Given the description of an element on the screen output the (x, y) to click on. 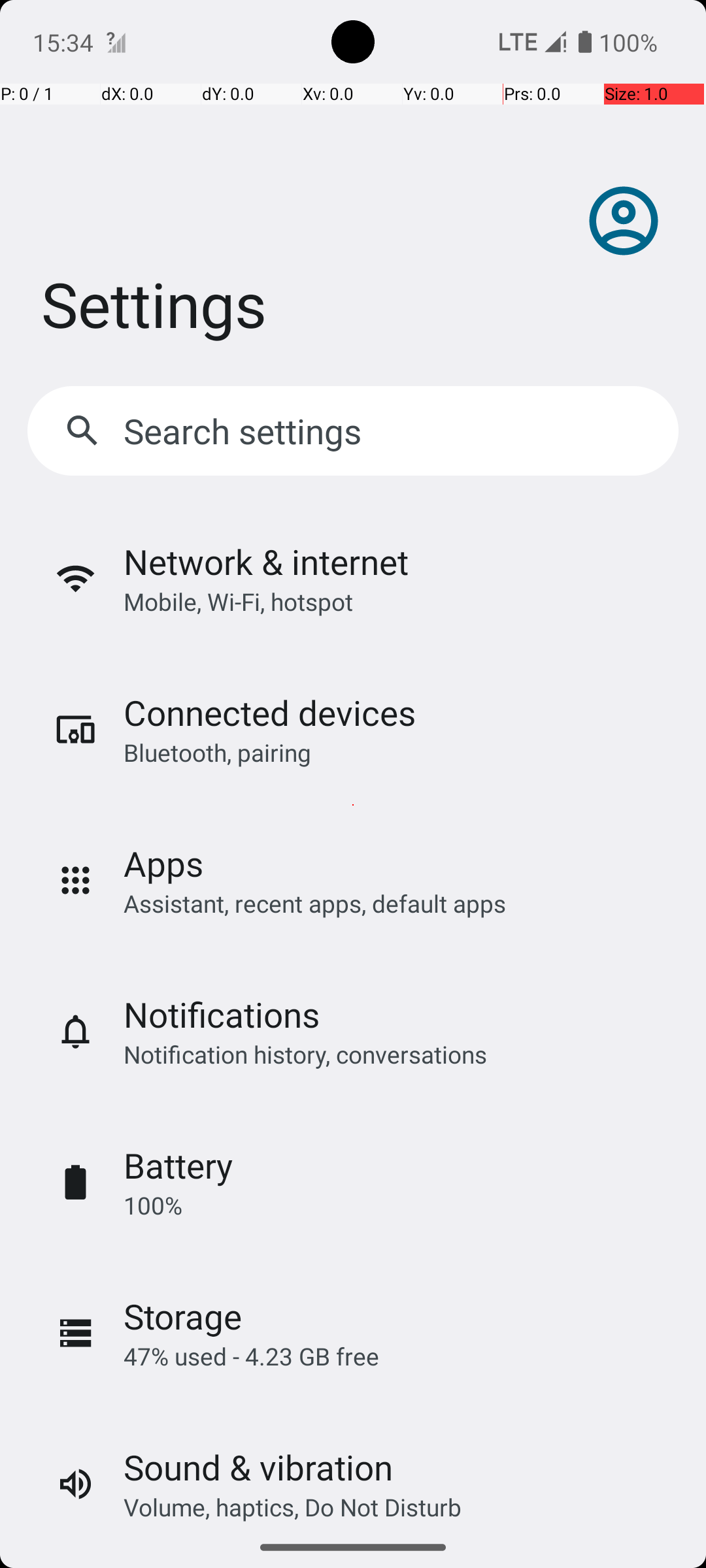
47% used - 4.23 GB free Element type: android.widget.TextView (251, 1355)
